Given the description of an element on the screen output the (x, y) to click on. 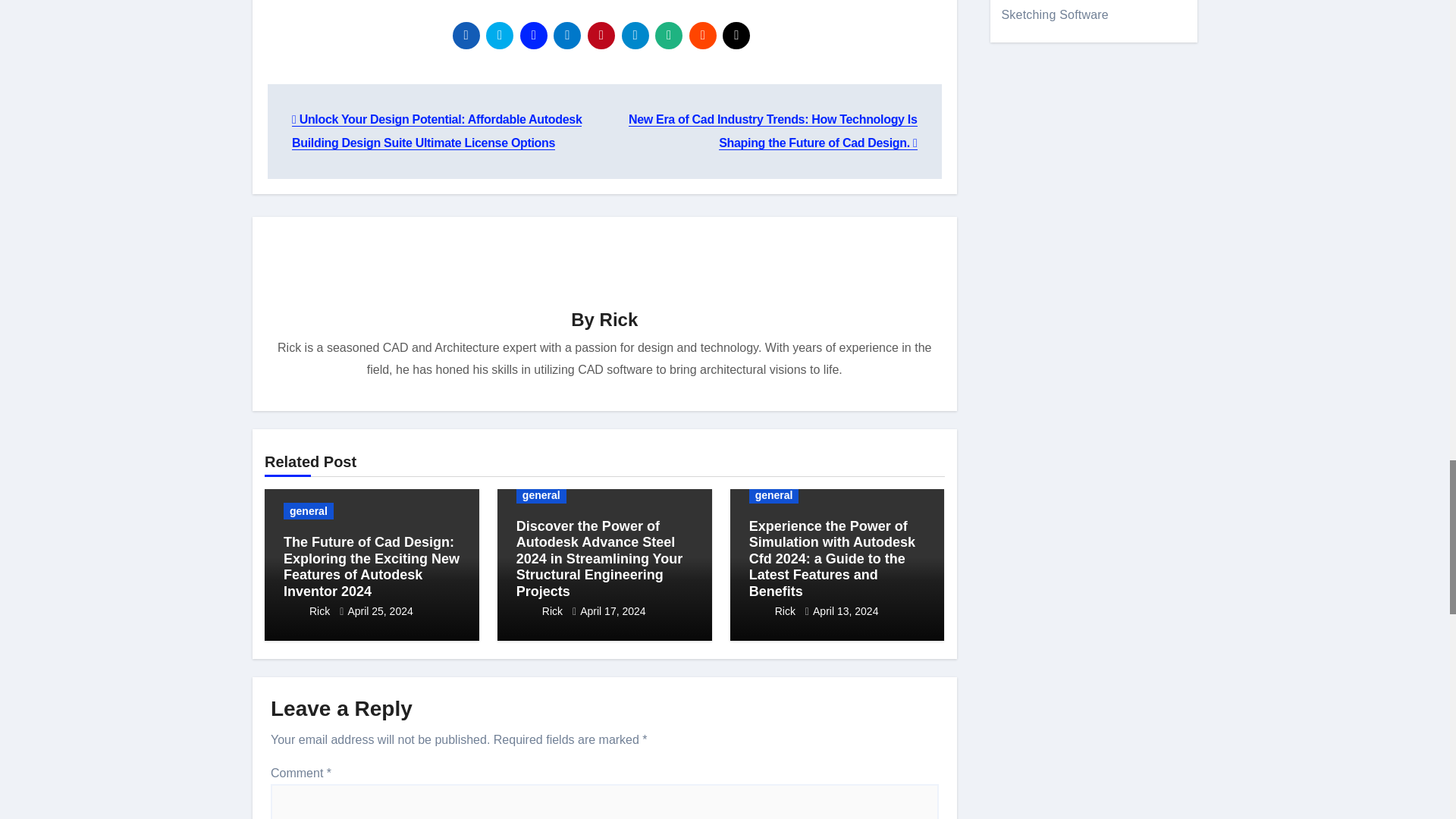
Rick (619, 319)
general (308, 510)
